Given the description of an element on the screen output the (x, y) to click on. 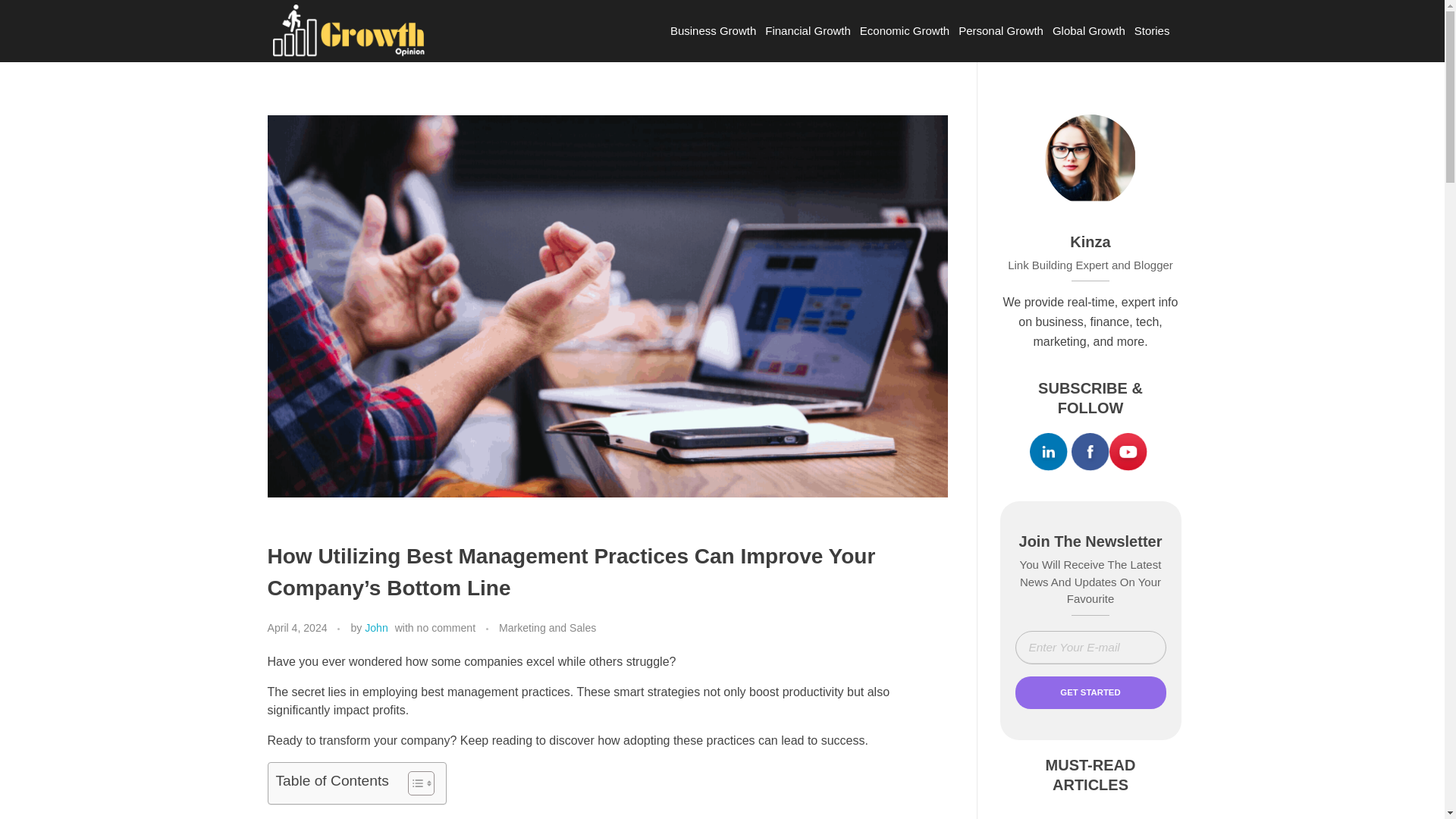
View all posts in Marketing and Sales (547, 627)
Get Started (1090, 692)
View all posts by John (376, 627)
Business Growth (712, 30)
Global Growth (1088, 30)
Economic Growth (904, 30)
Stories (1151, 30)
Financial Growth (808, 30)
Personal Growth (1000, 30)
